Given the description of an element on the screen output the (x, y) to click on. 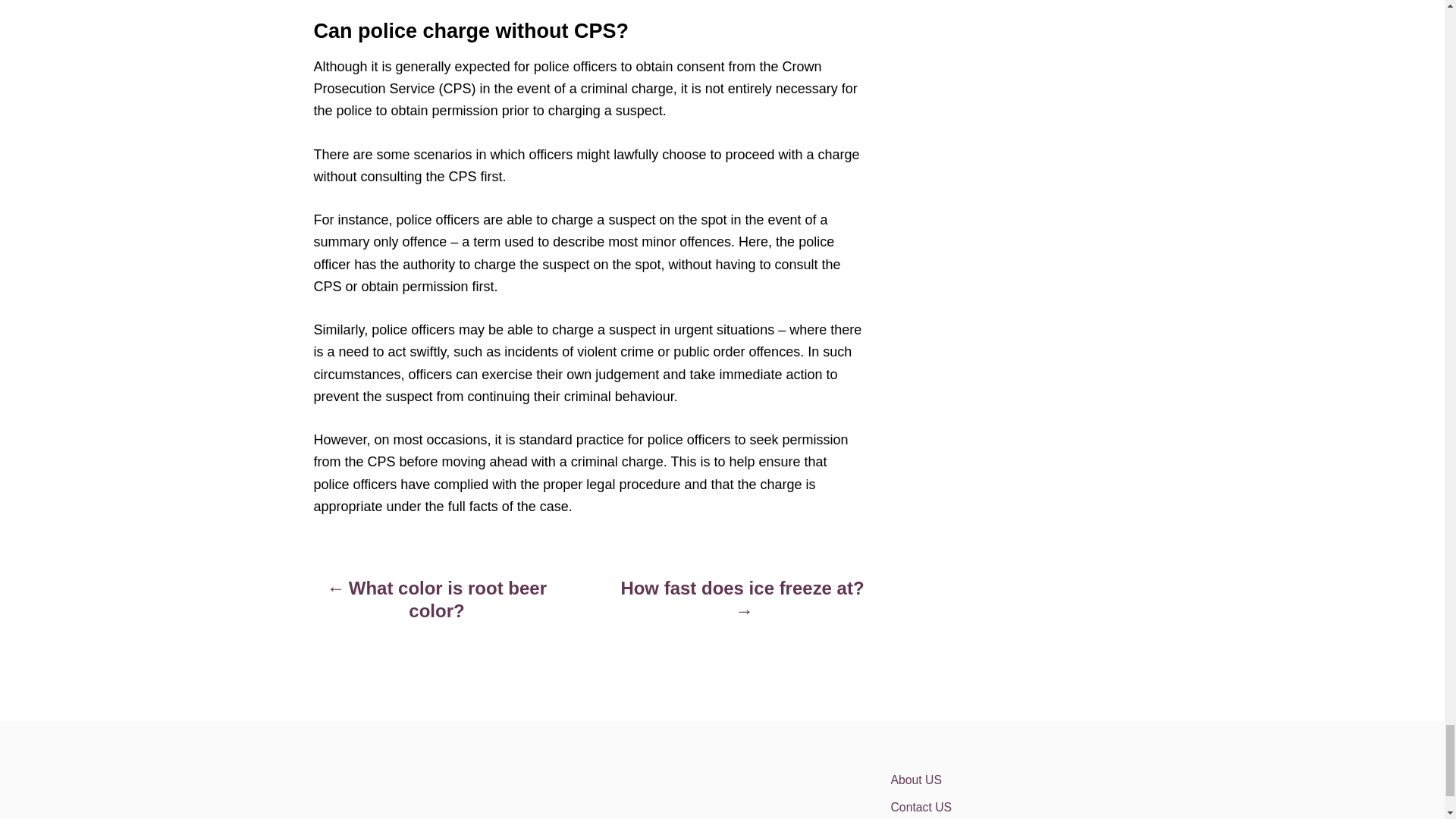
About US (1021, 779)
What color is root beer color? (437, 607)
How fast does ice freeze at? (741, 607)
Contact US (1021, 806)
